Given the description of an element on the screen output the (x, y) to click on. 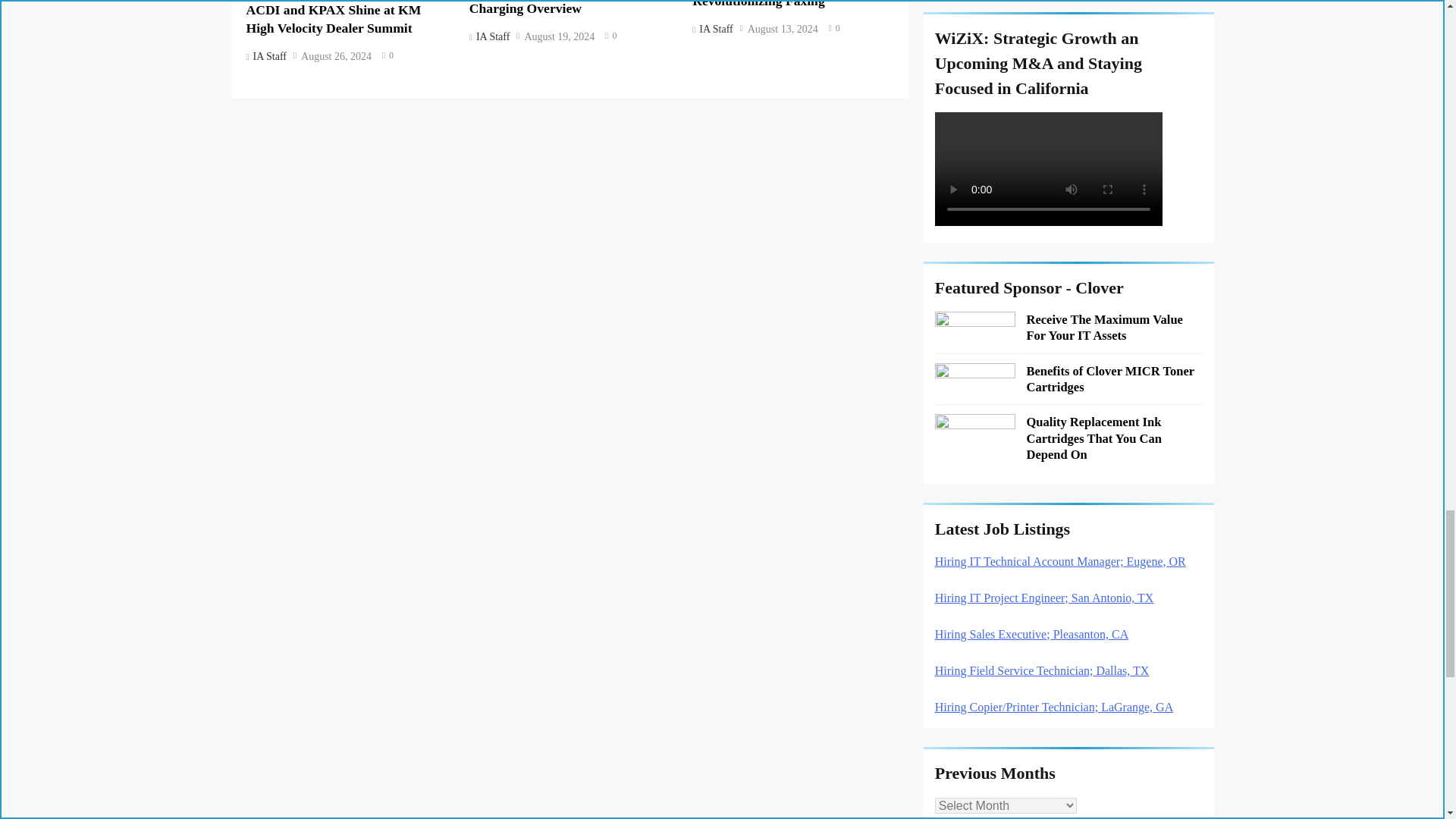
Hiring IT Technical Account Manager; Eugene, OR (1060, 561)
Hiring Sales Executive; Pleasanton, CA (1031, 634)
Hiring IT Project Engineer; San Antonio, TX (1044, 597)
Hiring Field Service Technician; Dallas, TX (1042, 670)
